Given the description of an element on the screen output the (x, y) to click on. 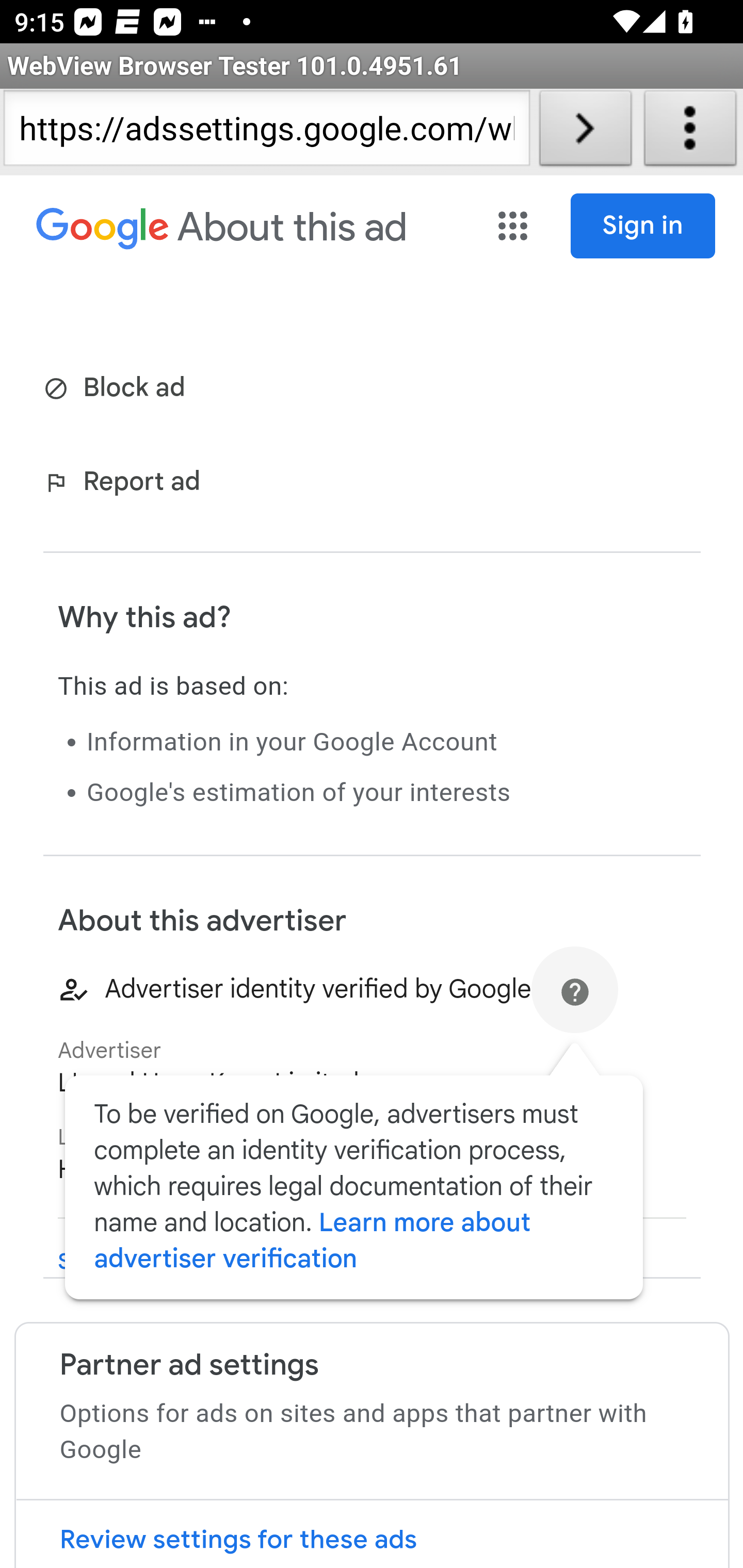
https://adssettings.google.com/whythisad (266, 132)
Load URL (585, 132)
About WebView (690, 132)
Google apps (514, 226)
Sign in (643, 226)
Block ad (117, 388)
Report ad (opens in new tab) Report ad (126, 483)
Review settings for these ads (371, 1534)
